Given the description of an element on the screen output the (x, y) to click on. 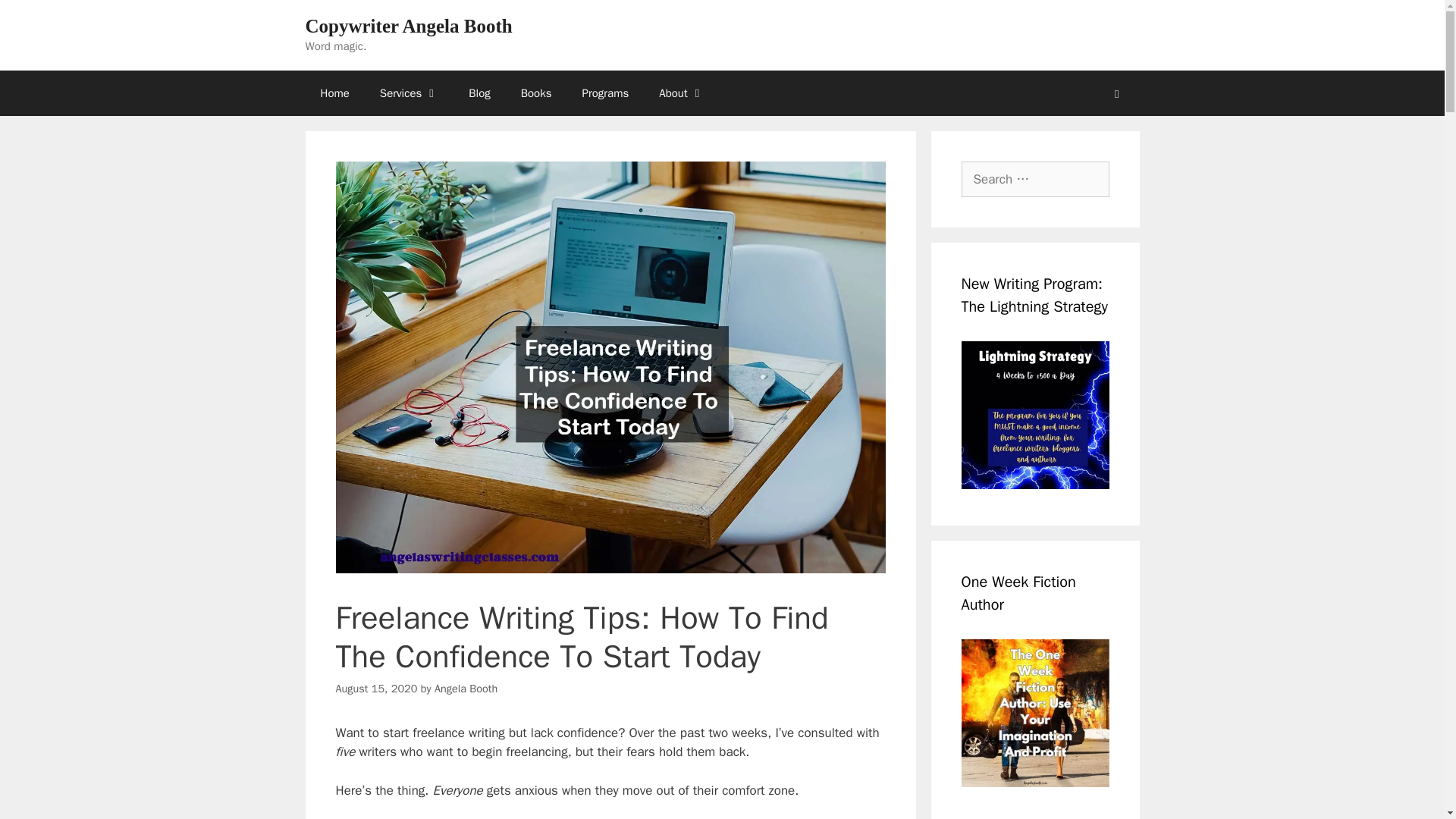
Books (536, 92)
Blog (478, 92)
Services (408, 92)
Copywriter Angela Booth (408, 25)
View all posts by Angela Booth (465, 688)
About (681, 92)
Home (334, 92)
Programs (606, 92)
Angela Booth (465, 688)
